Given the description of an element on the screen output the (x, y) to click on. 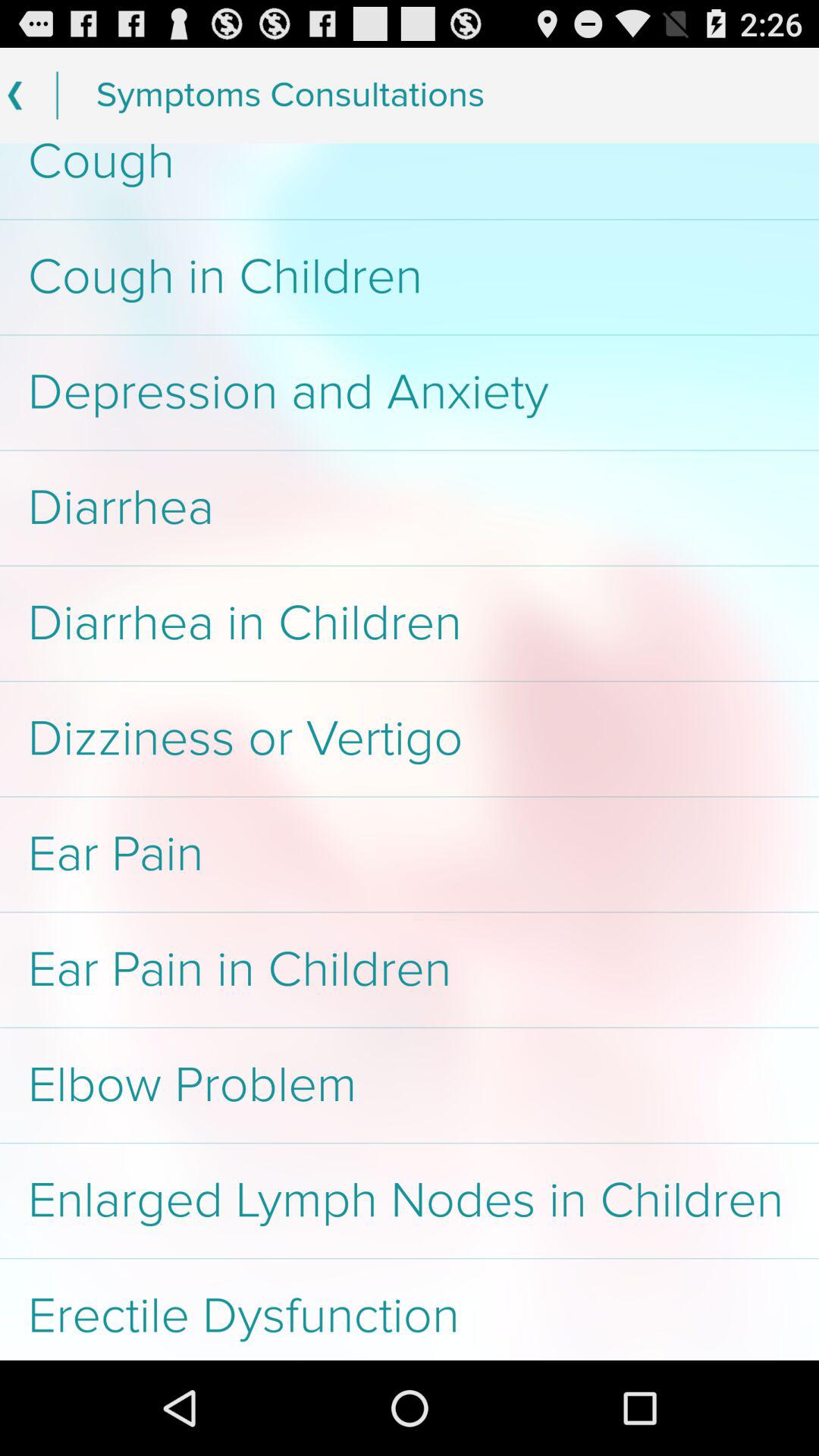
choose app below cough in children item (409, 392)
